Given the description of an element on the screen output the (x, y) to click on. 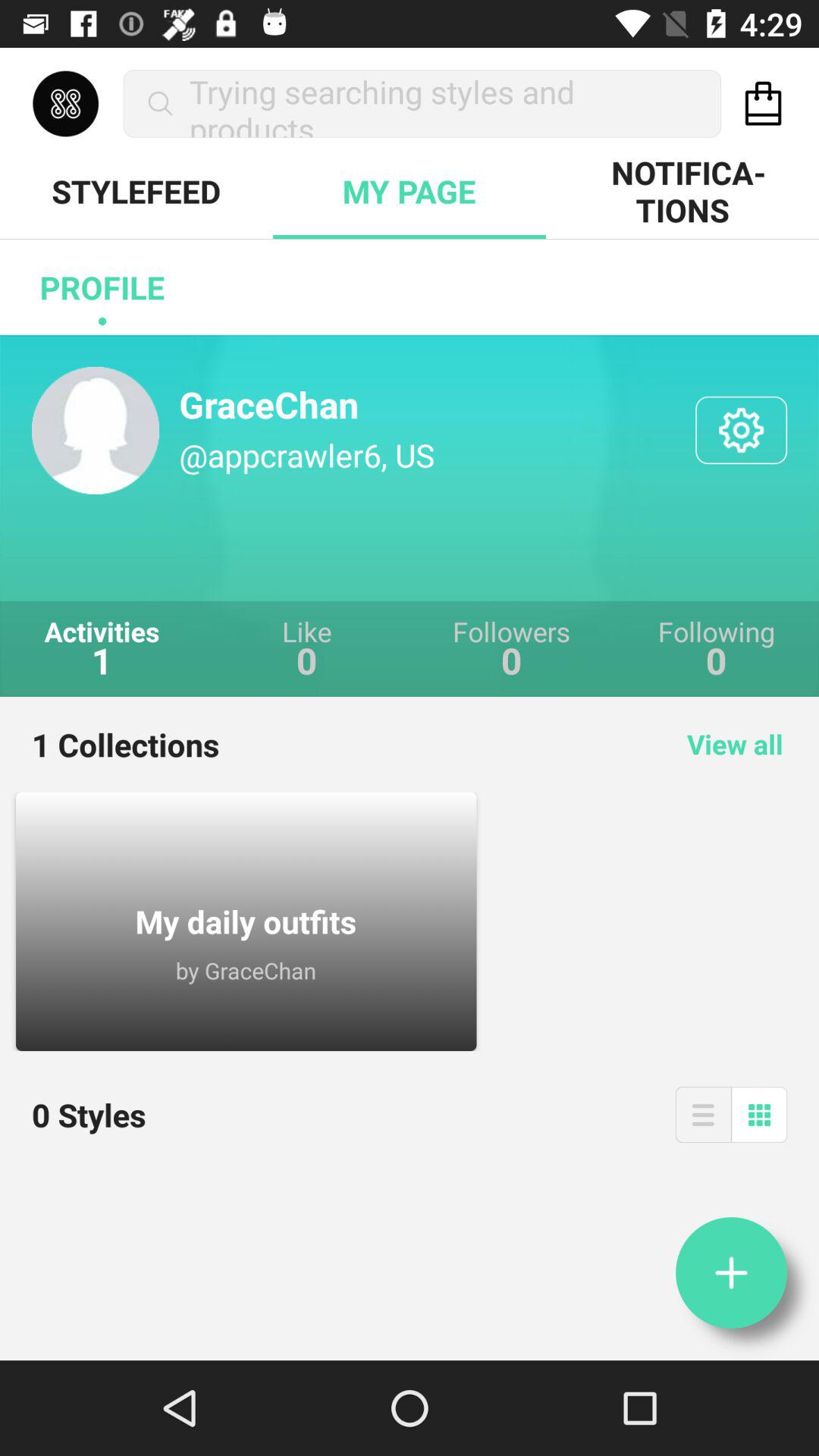
open settings (741, 430)
